Given the description of an element on the screen output the (x, y) to click on. 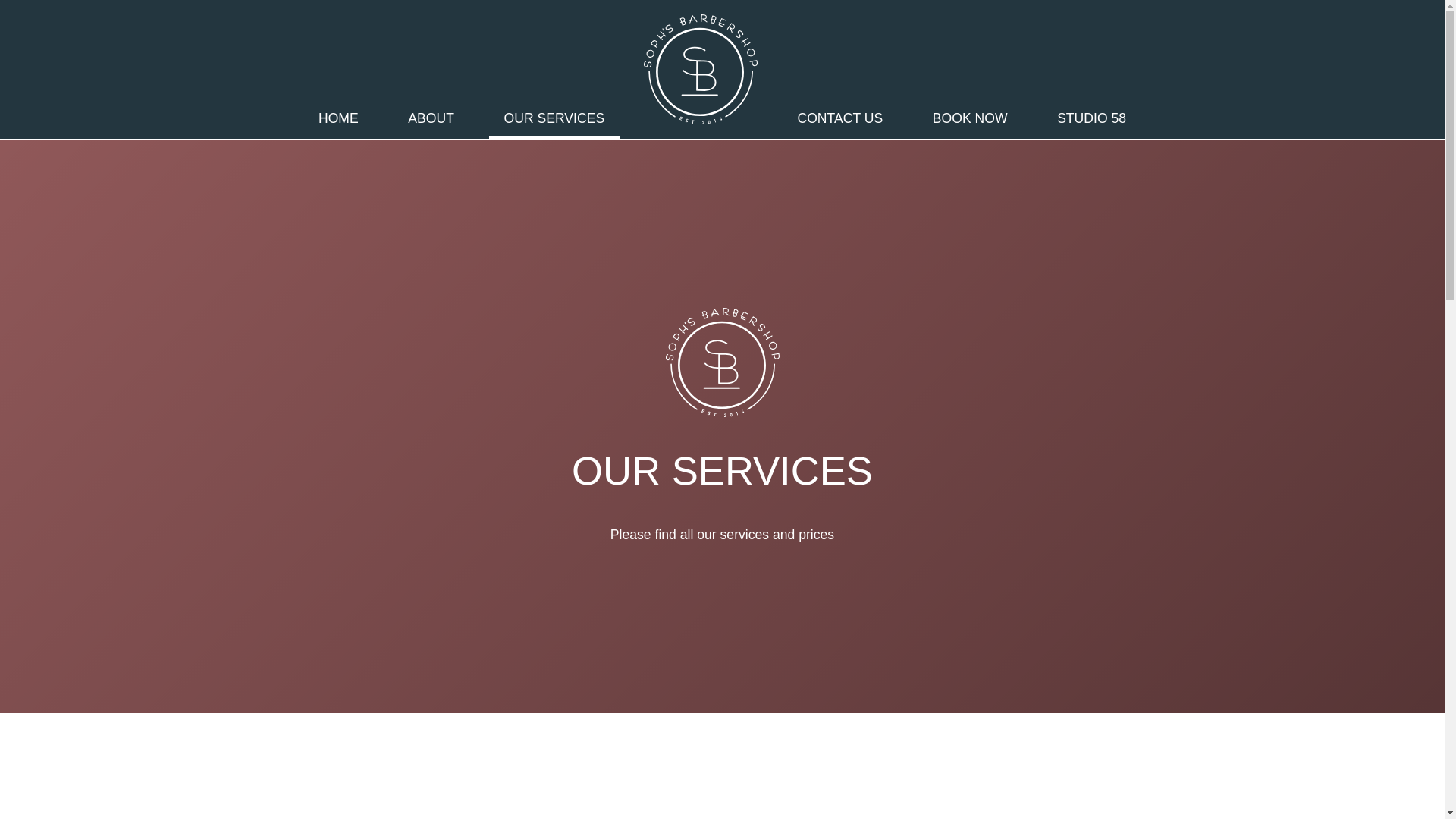
OUR SERVICES (553, 117)
CONTACT US (839, 117)
HOME (339, 117)
ABOUT (430, 117)
BOOK NOW (969, 117)
STUDIO 58 (1091, 117)
